Given the description of an element on the screen output the (x, y) to click on. 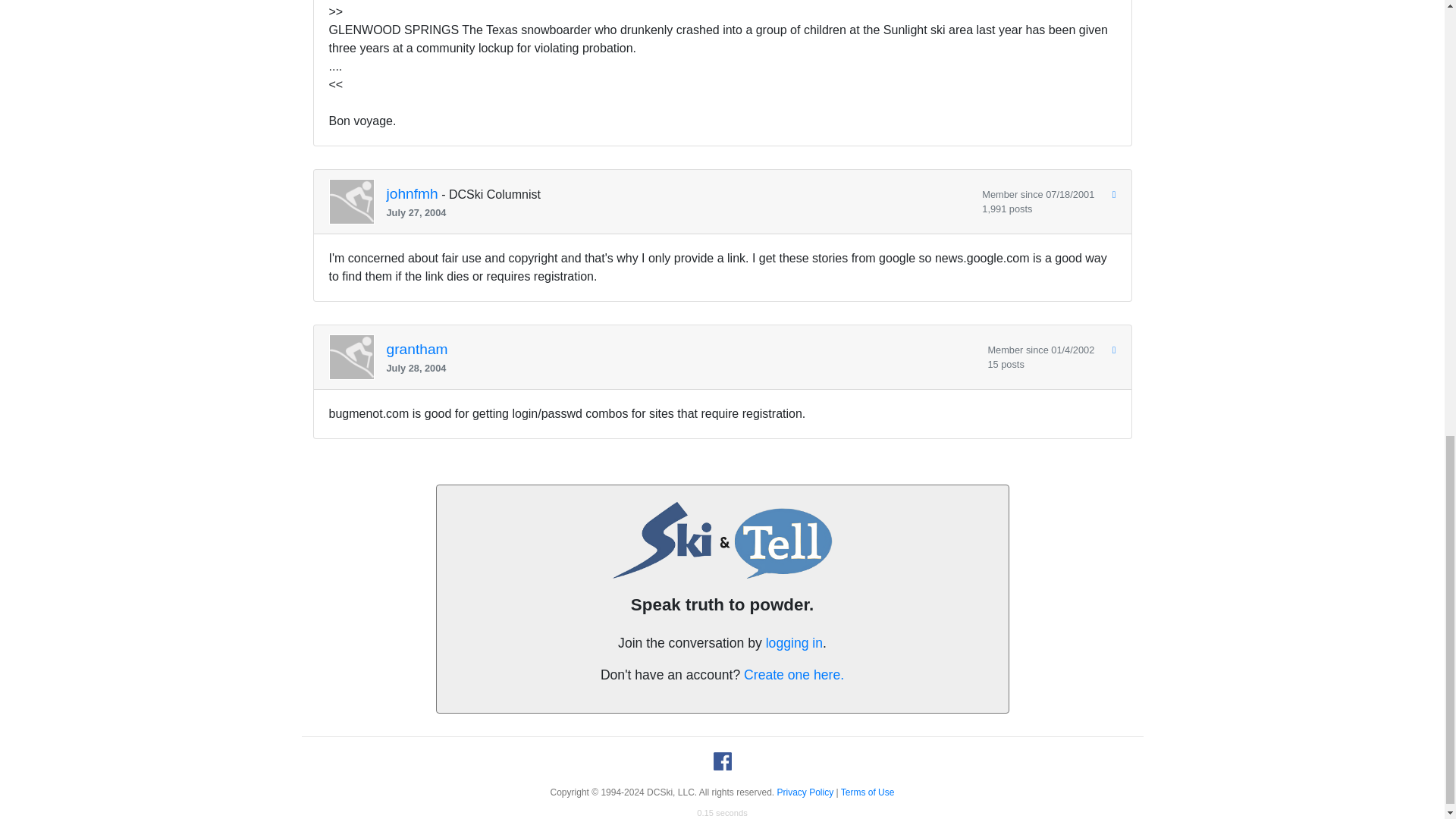
johnfmh (412, 194)
July 27, 2004 at 05:50 am (679, 212)
logging in (793, 642)
grantham (417, 349)
July 28, 2004 at 11:50 am (681, 368)
